Given the description of an element on the screen output the (x, y) to click on. 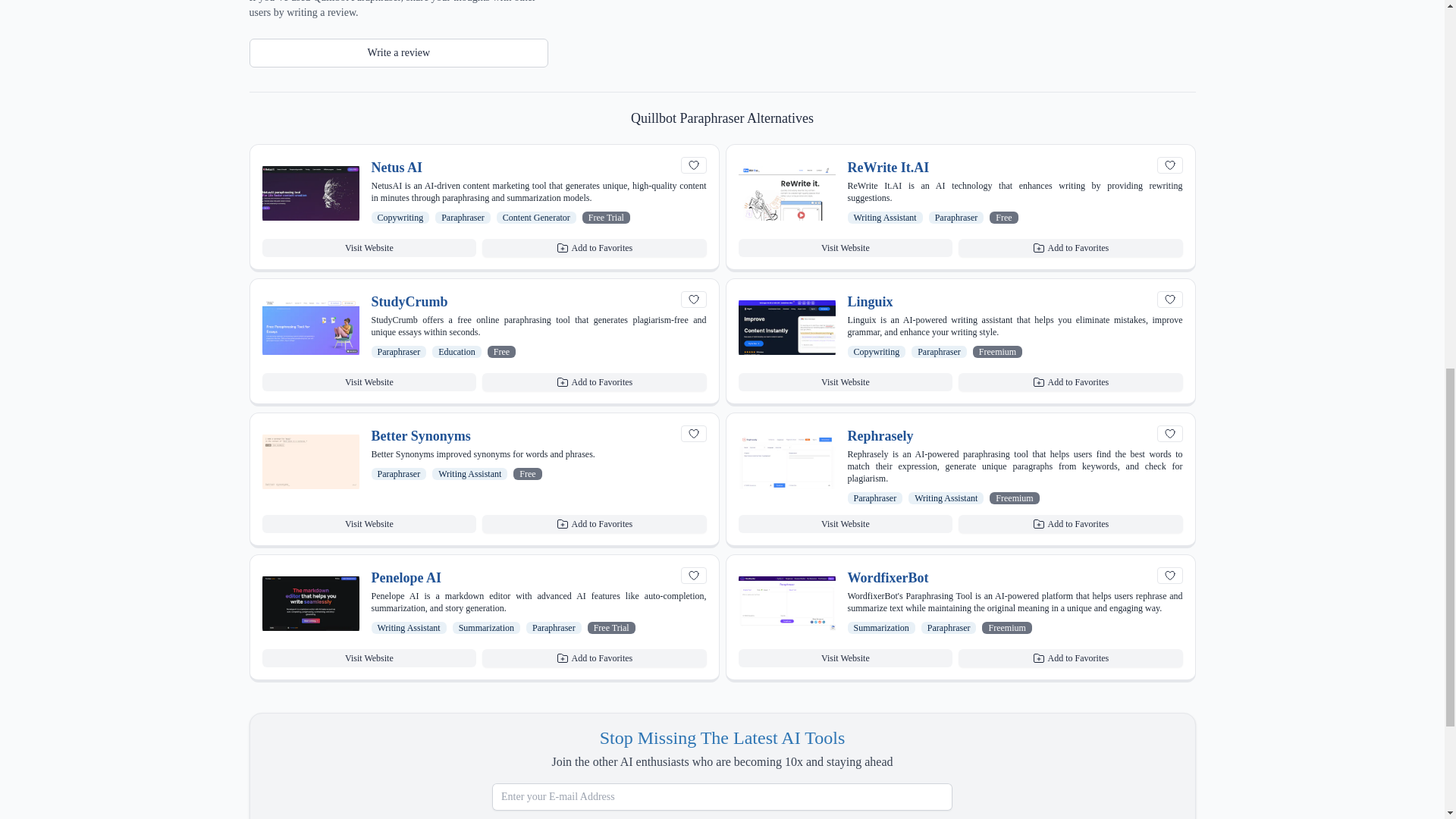
ReWrite It.AI (888, 167)
Writing Assistant (885, 217)
Copywriting (400, 217)
Visit Website (369, 248)
Add to Favorites (593, 248)
Content Generator (536, 217)
Paraphraser (462, 217)
Write a review (398, 52)
Netus AI (397, 167)
